Given the description of an element on the screen output the (x, y) to click on. 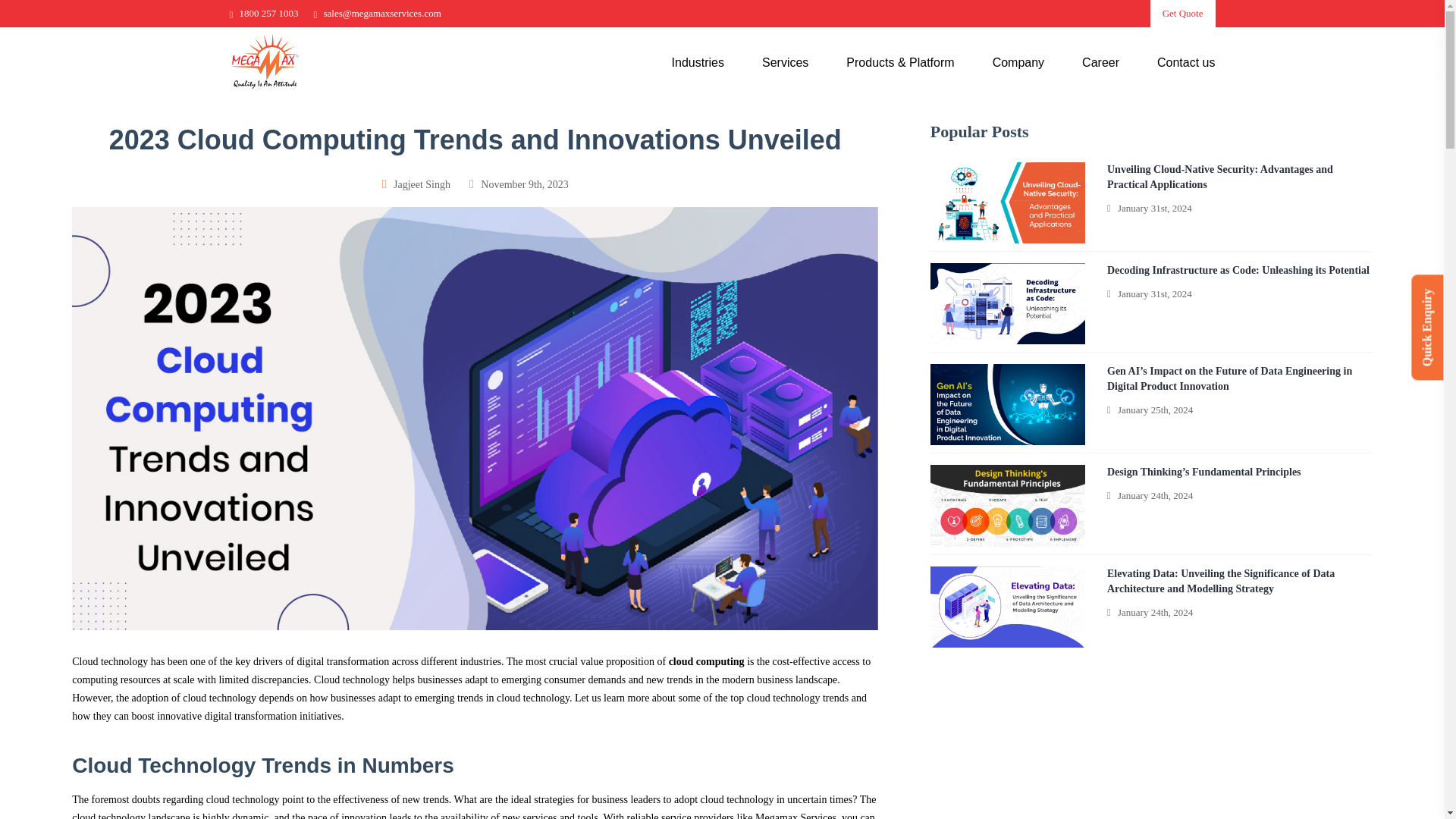
Posts by Jagjeet Singh (421, 184)
Get Quote (1182, 13)
Industries (699, 61)
Services (786, 61)
1800 257 1003 (263, 12)
